Given the description of an element on the screen output the (x, y) to click on. 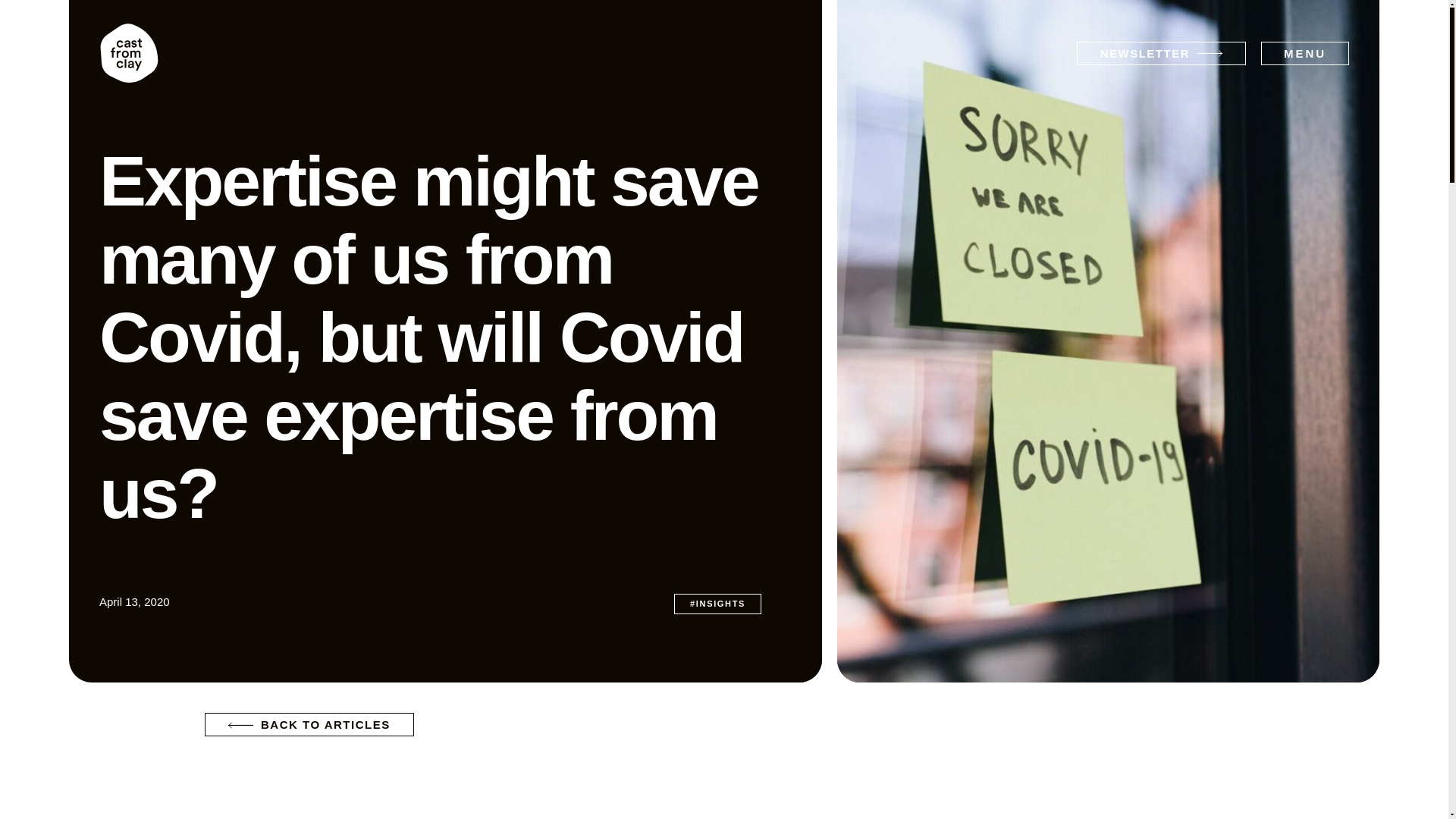
BACK TO ARTICLES (309, 724)
MENU (1304, 52)
NEWSLETTER (1161, 52)
